Given the description of an element on the screen output the (x, y) to click on. 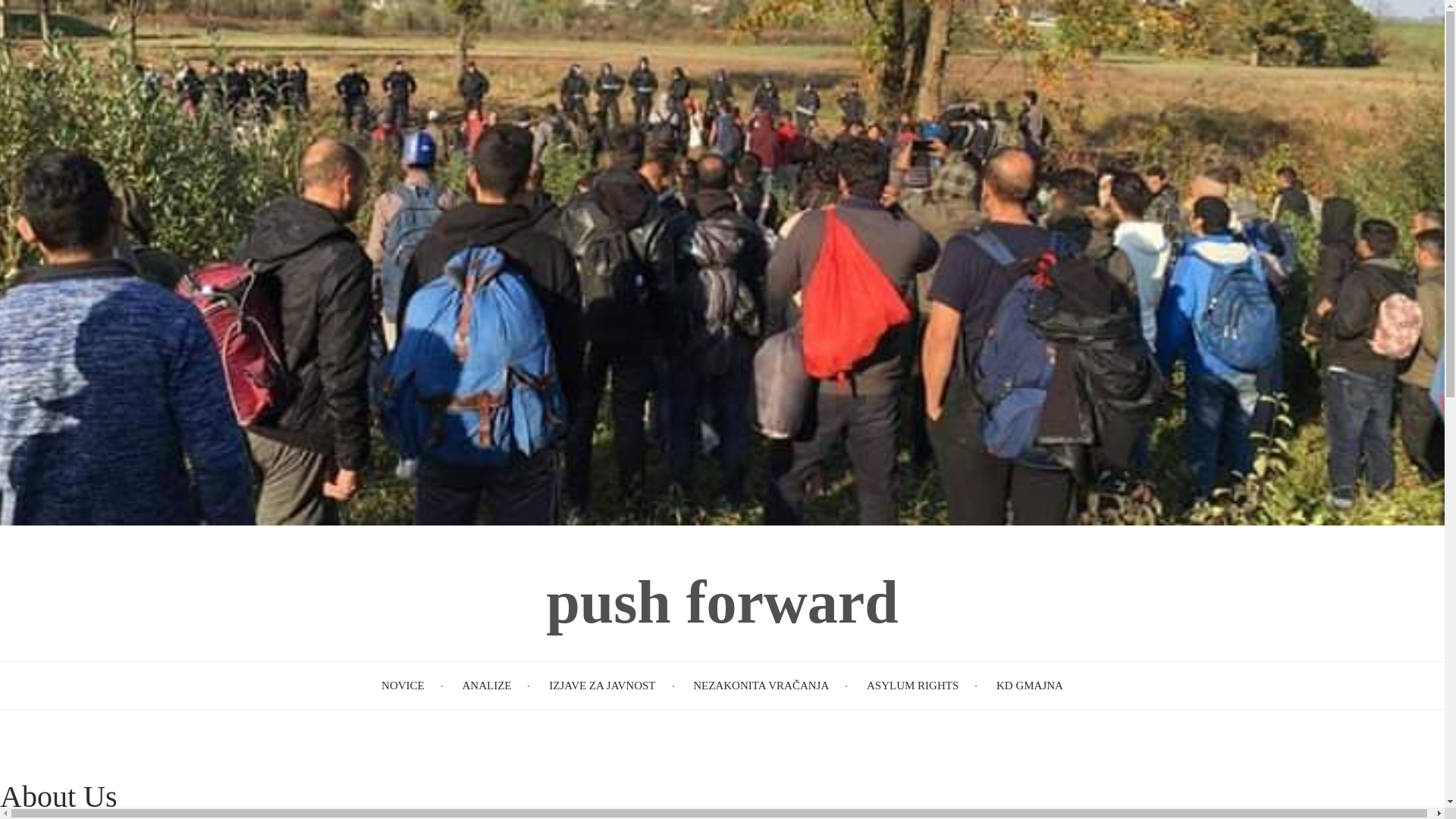
IZJAVE ZA JAVNOST (601, 685)
NOVICE (403, 685)
Domov (722, 602)
KD GMAJNA (1029, 685)
push forward (722, 602)
ASYLUM RIGHTS (911, 685)
ANALIZE (486, 685)
